Given the description of an element on the screen output the (x, y) to click on. 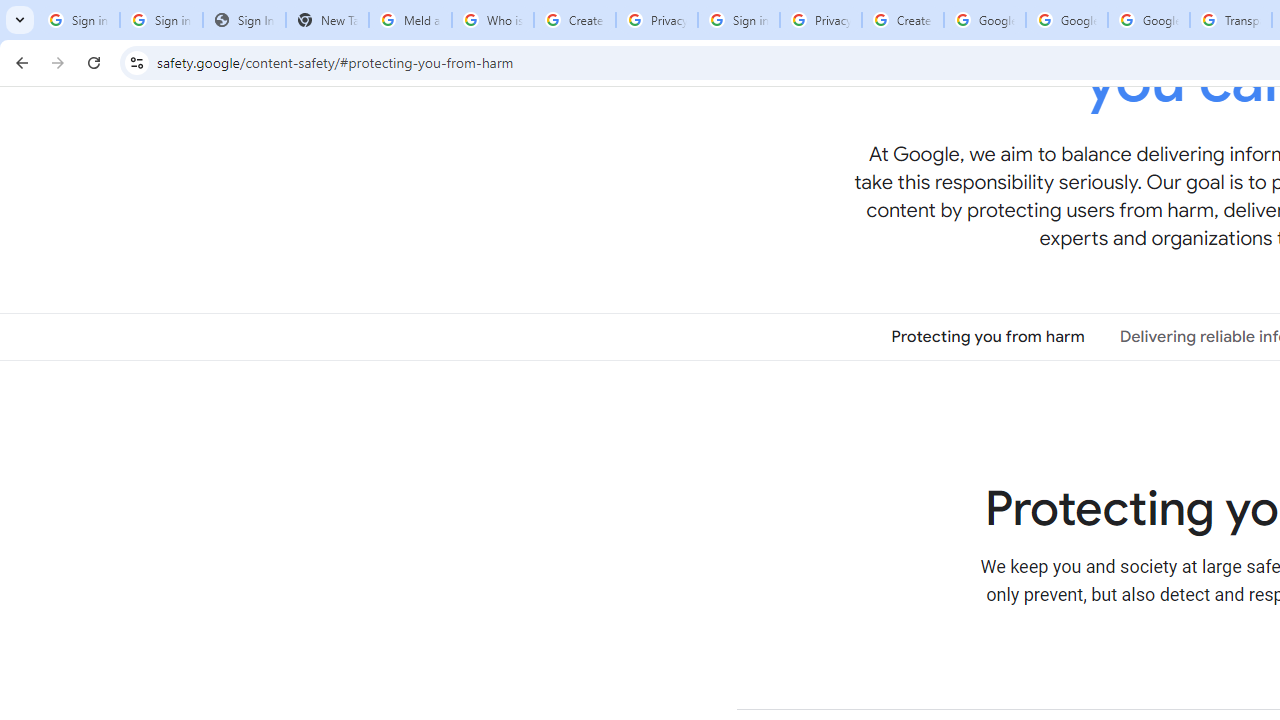
Sign in - Google Accounts (78, 20)
Google Account (1149, 20)
Sign in - Google Accounts (161, 20)
Create your Google Account (574, 20)
Sign in - Google Accounts (738, 20)
Sign In - USA TODAY (244, 20)
Create your Google Account (902, 20)
